Given the description of an element on the screen output the (x, y) to click on. 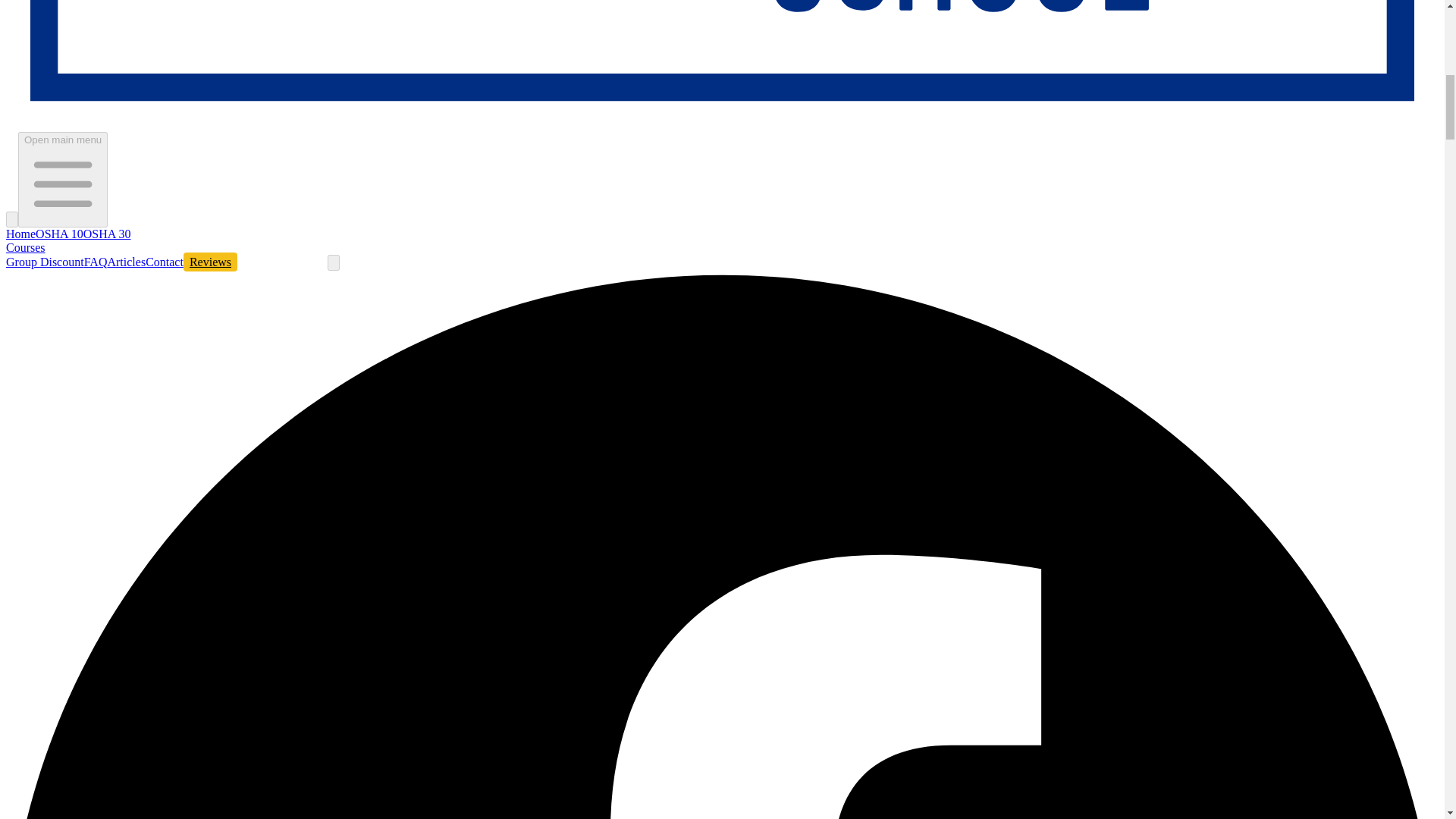
Home (19, 233)
OSHA 30 (106, 233)
OSHA 10 (58, 233)
Open main menu (62, 179)
Reviews (210, 261)
Courses (25, 246)
FAQ (95, 261)
Articles (125, 261)
Group Discount (44, 261)
Contact (164, 261)
Partner With Us (282, 261)
